Given the description of an element on the screen output the (x, y) to click on. 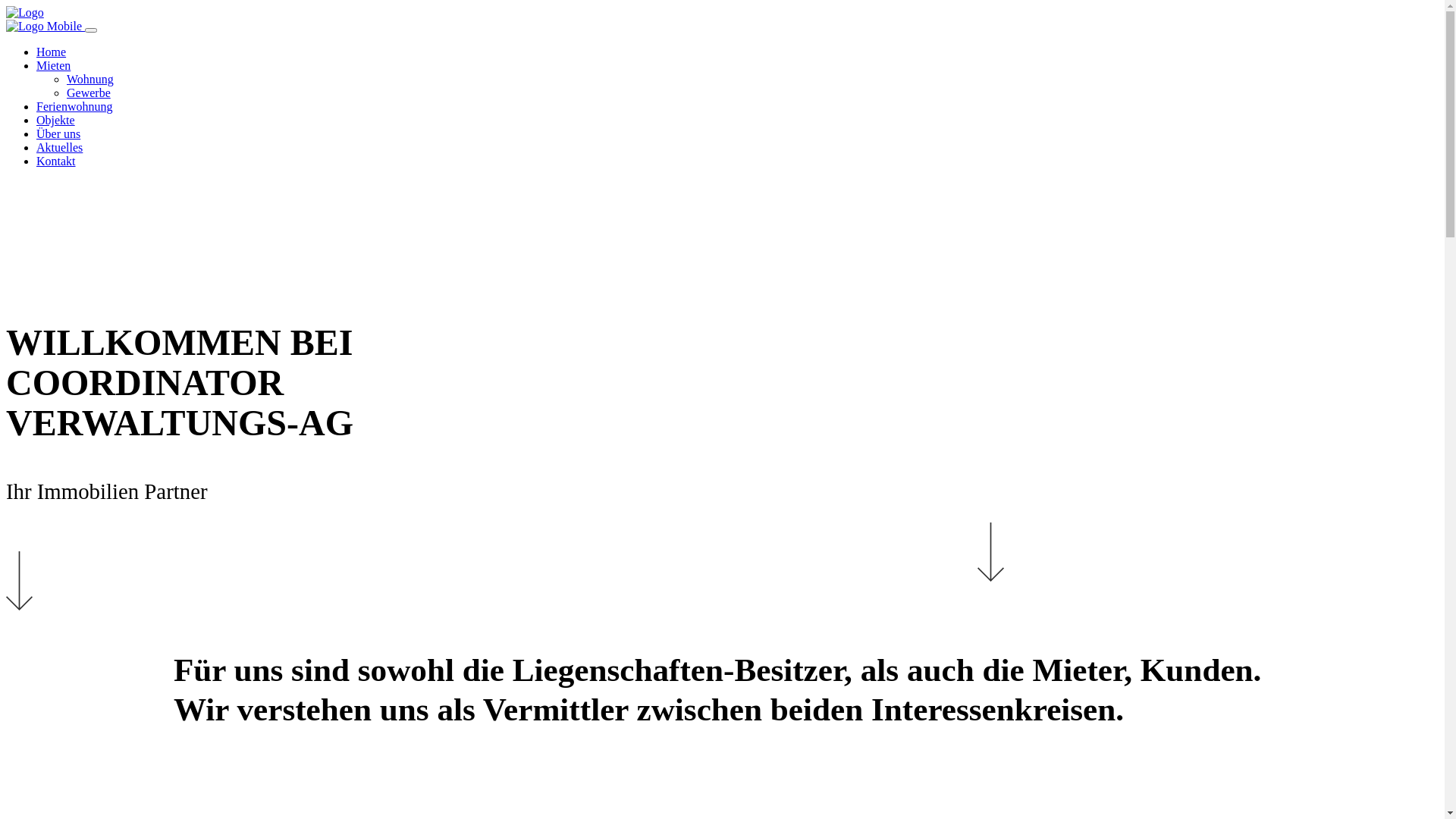
Gewerbe Element type: text (88, 92)
Wohnung Element type: text (89, 78)
Ferienwohnung Element type: text (74, 106)
Kontakt Element type: text (55, 160)
Mieten Element type: text (53, 65)
Home Element type: text (50, 51)
Aktuelles Element type: text (59, 147)
Objekte Element type: text (55, 119)
